Given the description of an element on the screen output the (x, y) to click on. 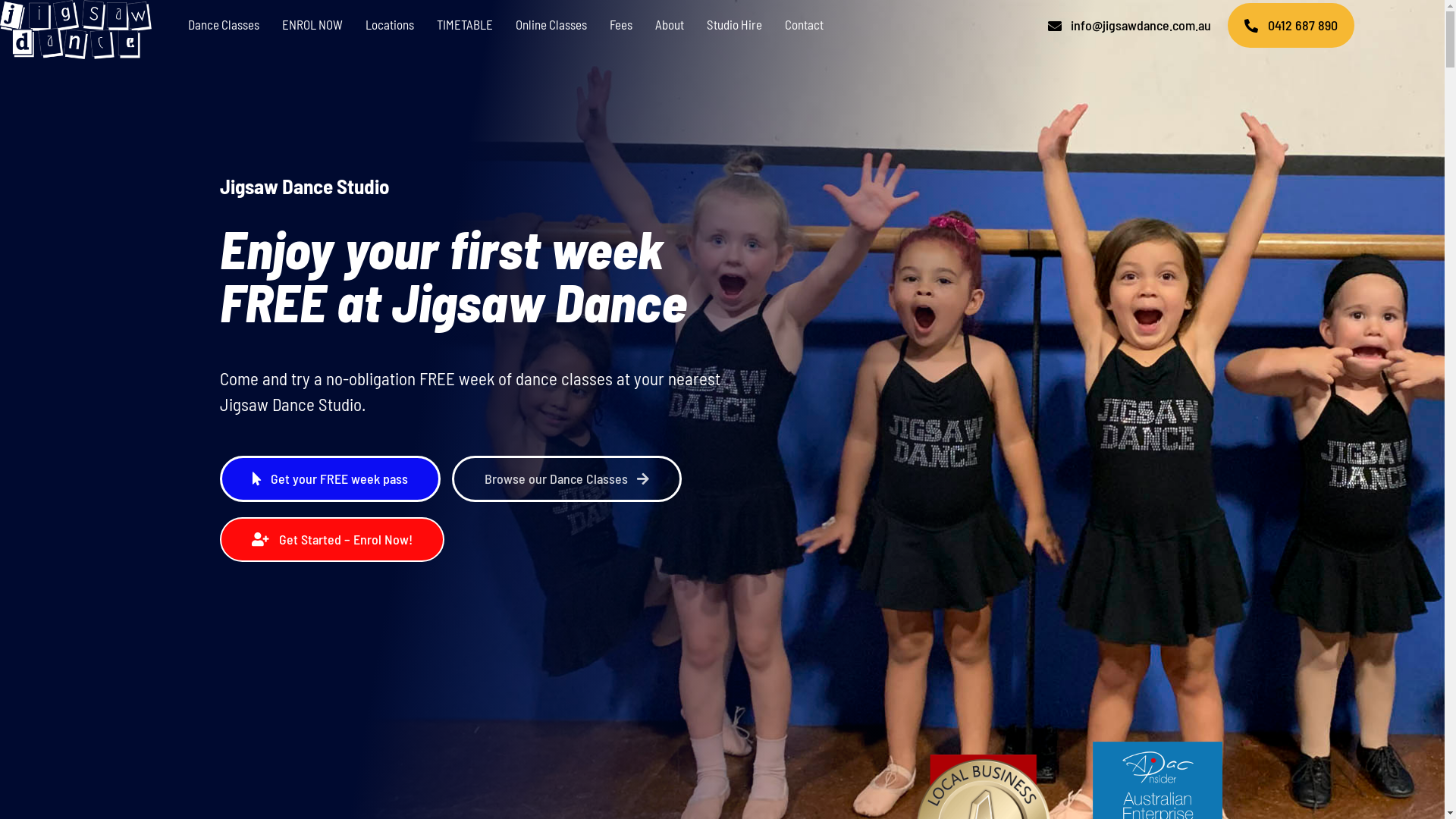
0412 687 890 Element type: text (1290, 25)
Get your FREE week pass Element type: text (329, 478)
info@jigsawdance.com.au Element type: text (1129, 25)
Browse our Dance Classes Element type: text (566, 478)
